Given the description of an element on the screen output the (x, y) to click on. 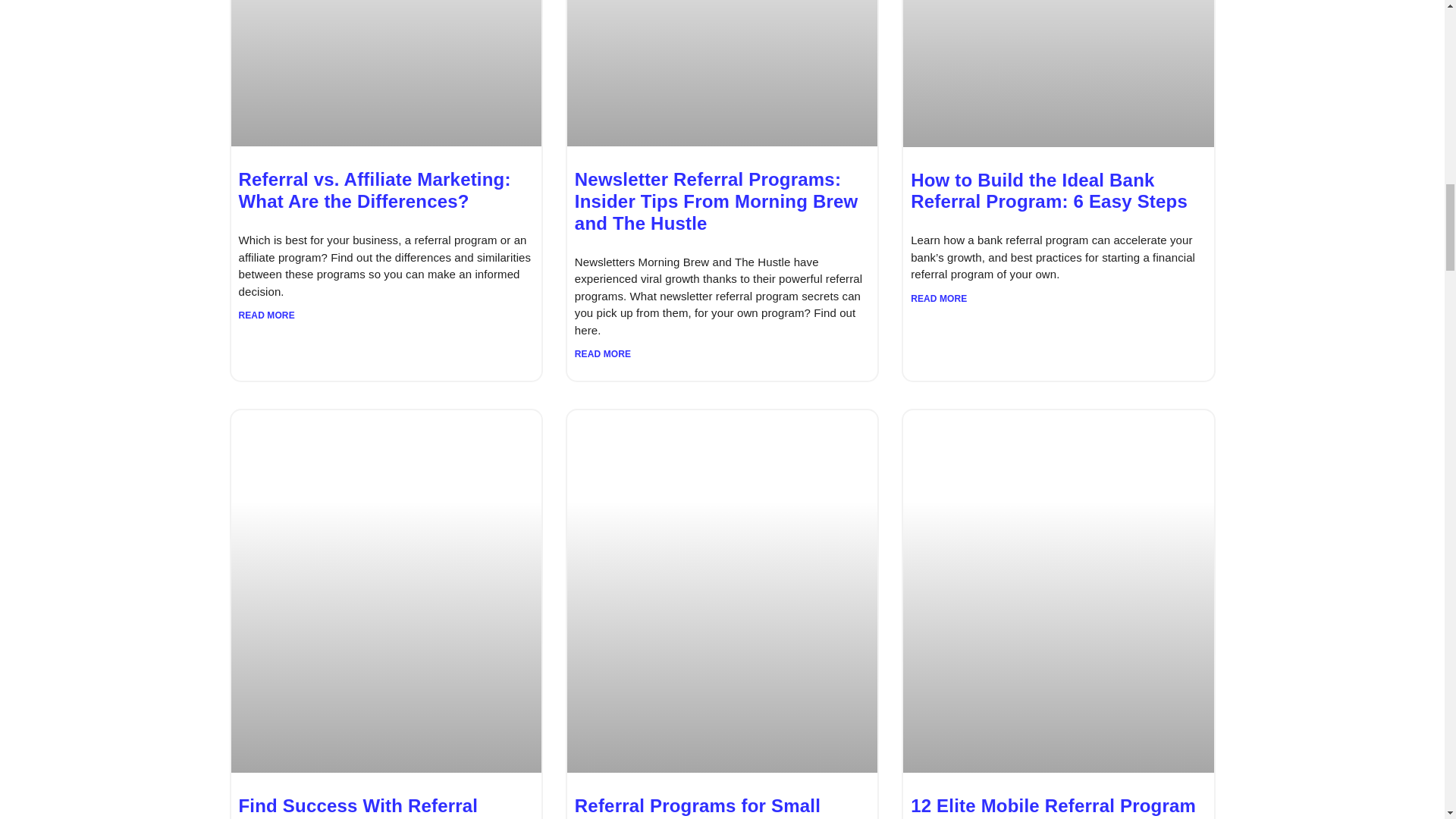
READ MORE (938, 299)
How to Build the Ideal Bank Referral Program: 6 Easy Steps (1049, 190)
READ MORE (602, 354)
READ MORE (266, 315)
Referral vs. Affiliate Marketing: What Are the Differences?  (374, 189)
